Given the description of an element on the screen output the (x, y) to click on. 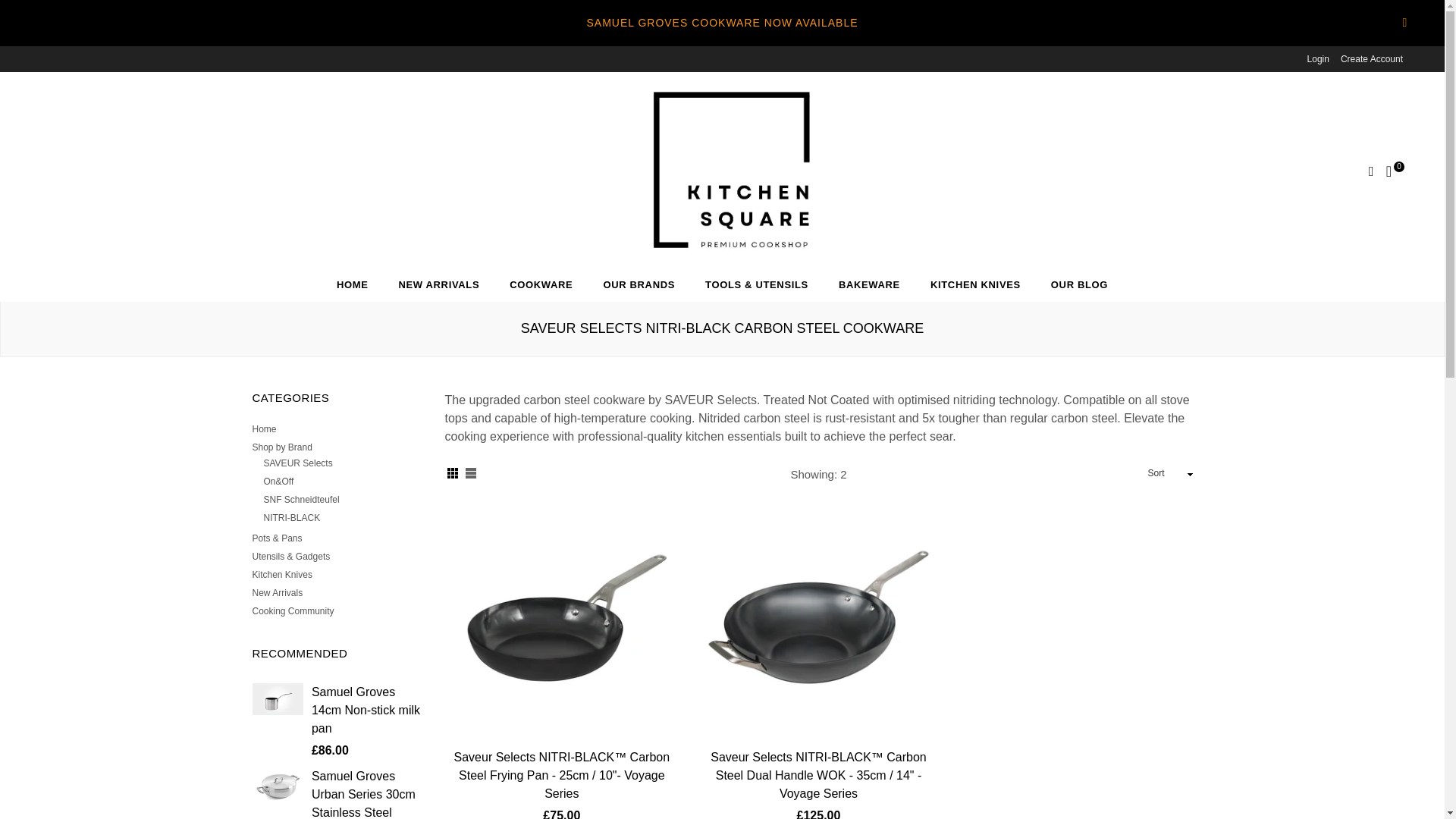
BAKEWARE (869, 285)
NEW ARRIVALS (438, 285)
OUR BLOG (1078, 285)
KITCHEN KNIVES (975, 285)
COOKWARE (541, 285)
Login (1318, 59)
Create Account (1371, 59)
HOME (352, 285)
OUR BRANDS (639, 285)
SAMUEL GROVES COOKWARE NOW AVAILABLE (721, 22)
